Given the description of an element on the screen output the (x, y) to click on. 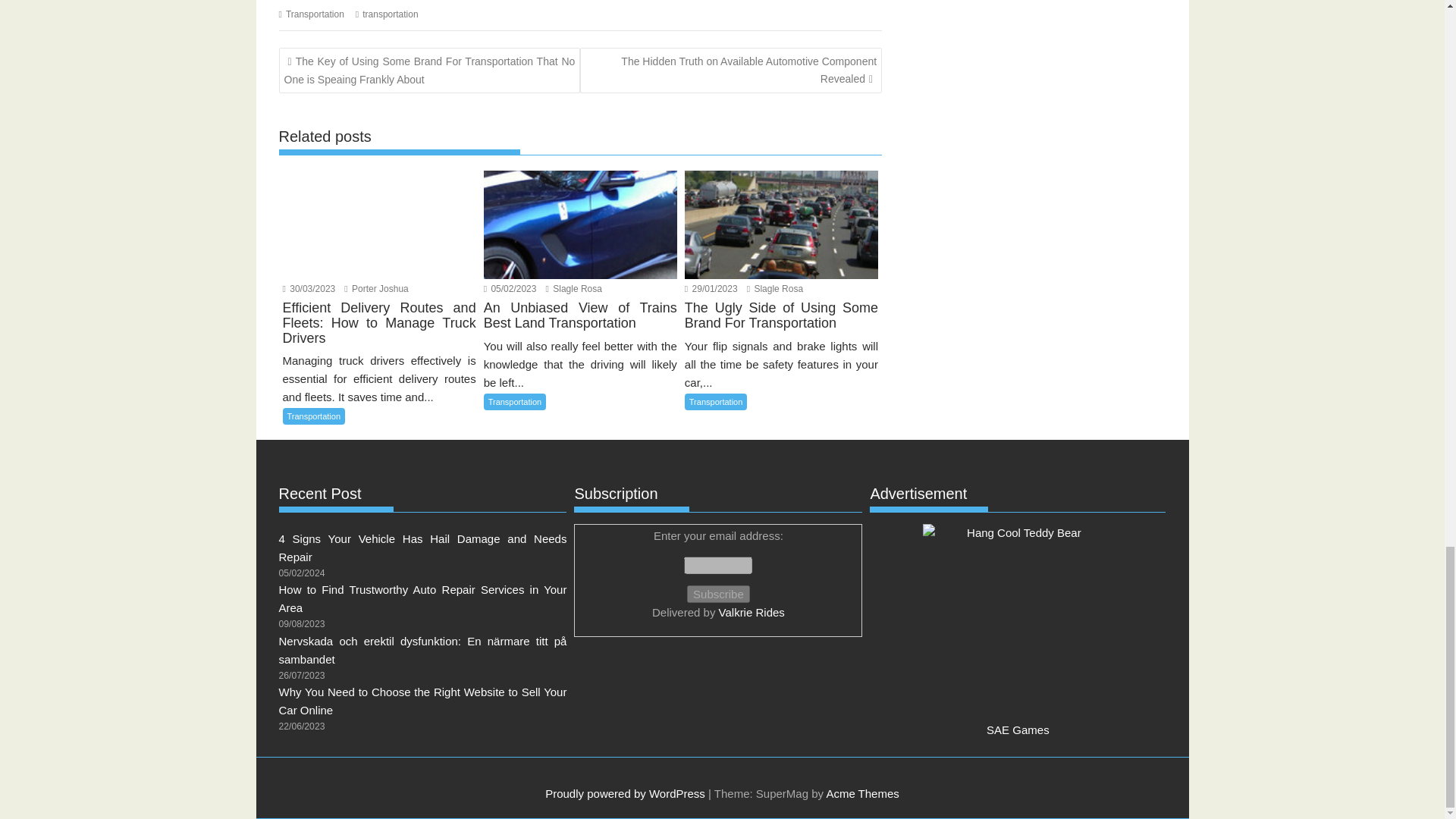
An Unbiased View of Trains Best Land Transportation (580, 225)
Slagle Rosa (574, 288)
The Ugly Side of Using Some Brand For Transportation (780, 225)
Slagle Rosa (774, 288)
The Hidden Truth on Available Automotive Component Revealed (730, 70)
Transportation (314, 14)
Transportation (515, 401)
transportation (389, 14)
Porter Joshua (375, 288)
